Given the description of an element on the screen output the (x, y) to click on. 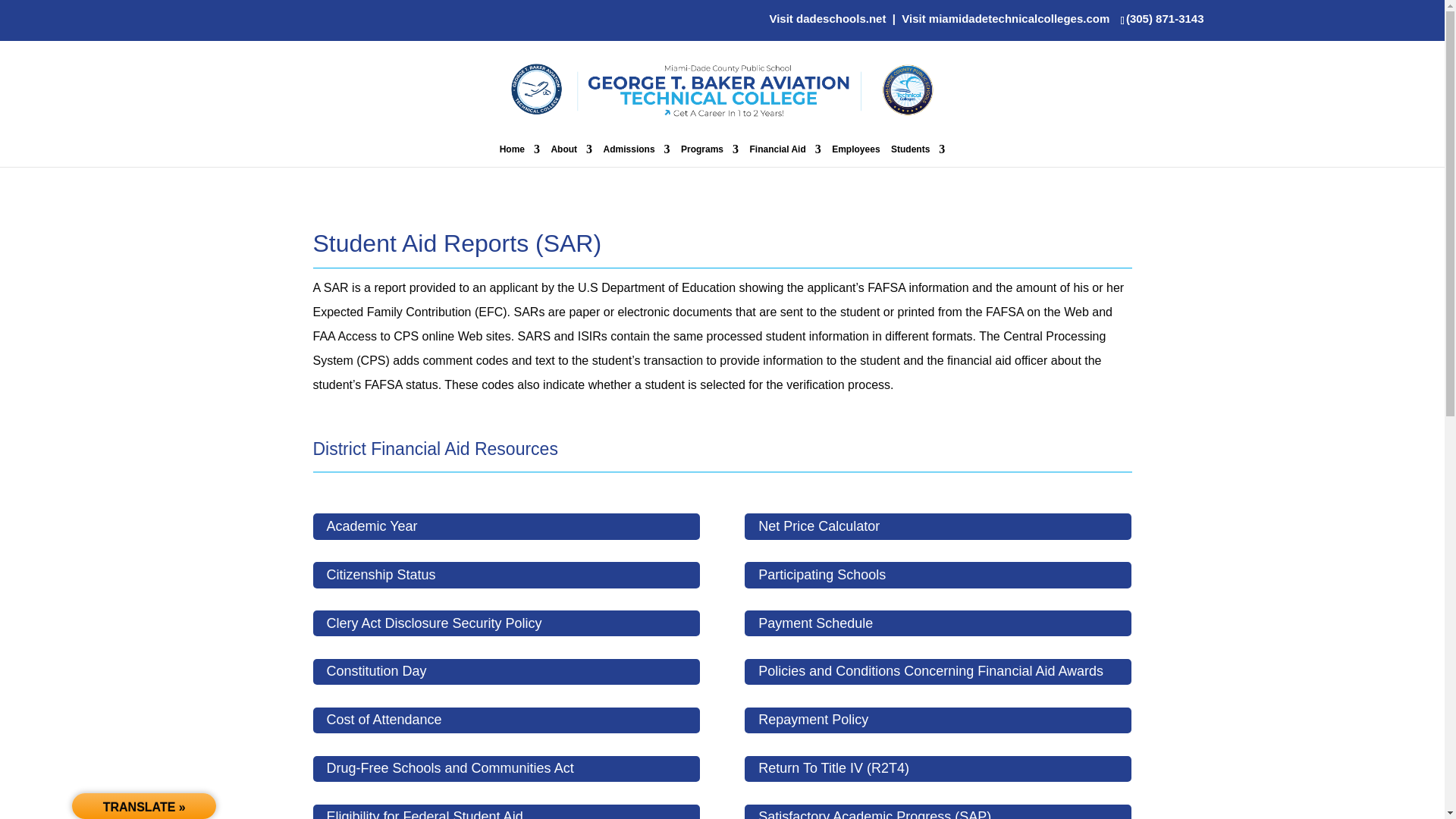
Home (519, 155)
Financial Aid (785, 155)
Admissions (636, 155)
Visit miamidadetechnicalcolleges.com (1005, 18)
About (571, 155)
Visit dadeschools.net (826, 18)
Programs (709, 155)
